Given the description of an element on the screen output the (x, y) to click on. 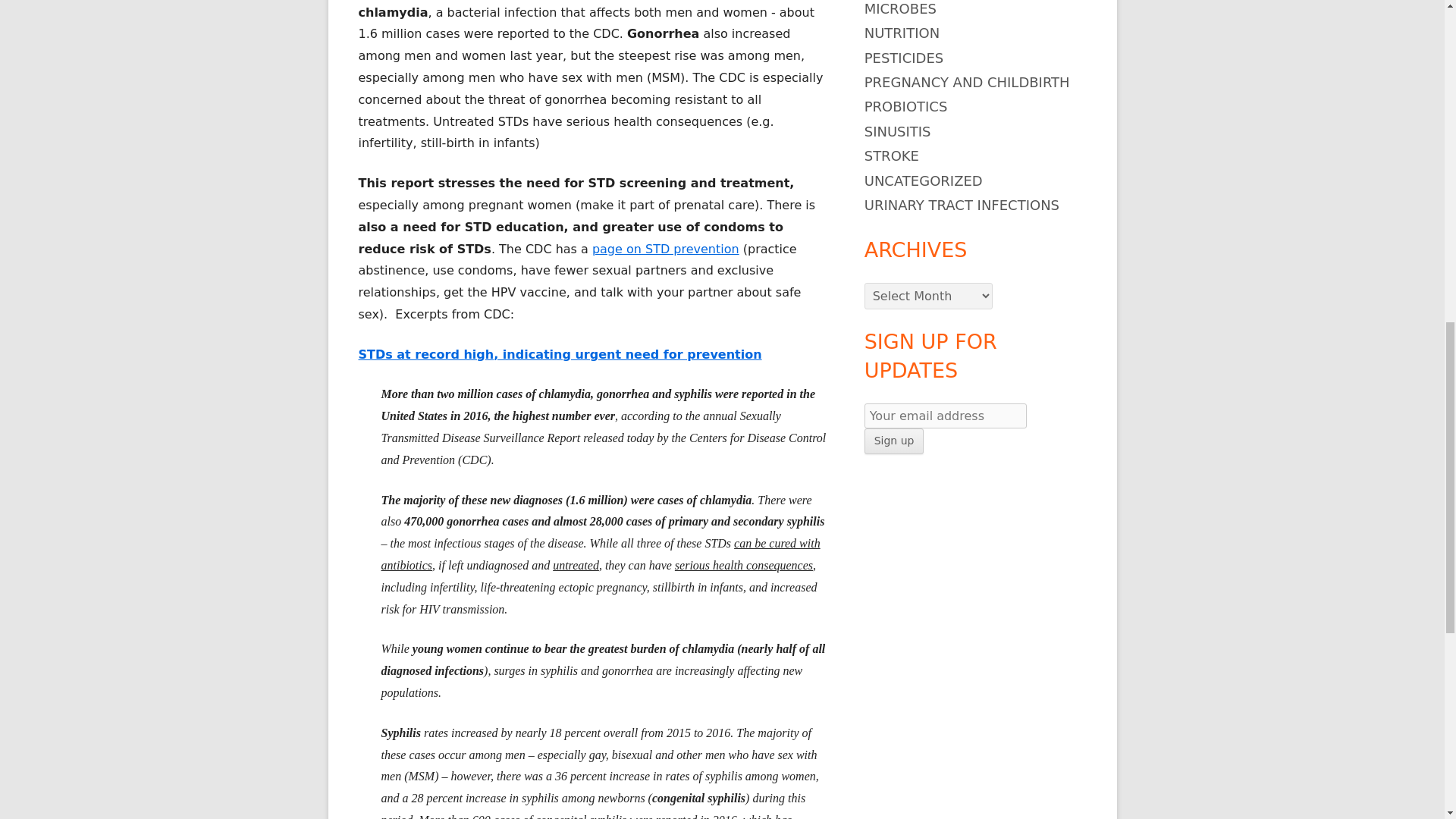
Sign up (894, 441)
page on STD prevention (665, 247)
STDs at record high, indicating urgent need for prevention (559, 354)
